Given the description of an element on the screen output the (x, y) to click on. 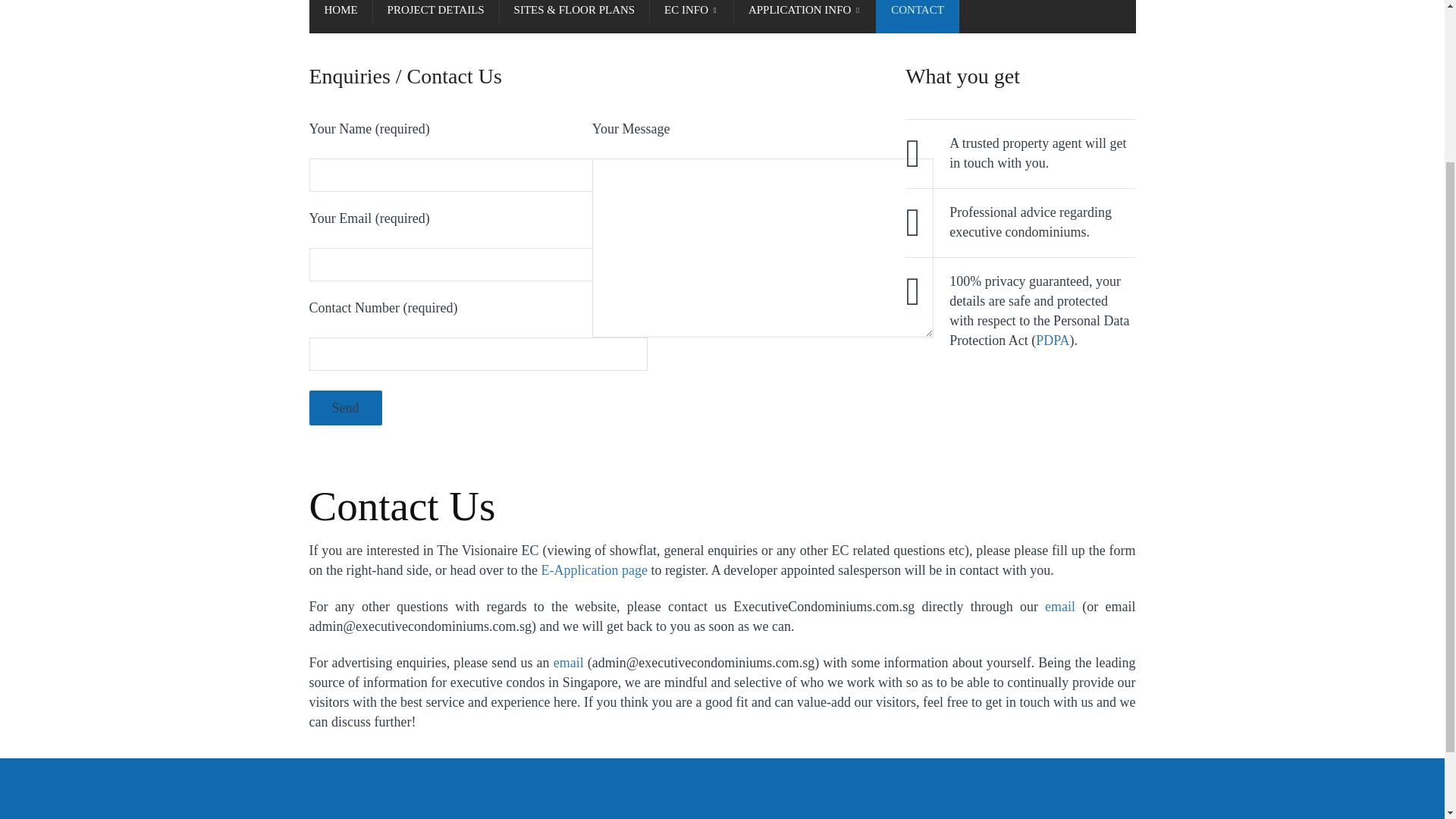
Contact Executive Condominiums Singapore (1060, 606)
PROJECT DETAILS (435, 16)
E-Application Registration (593, 570)
EC INFO (691, 16)
Contact Executive Condominiums Singapore (568, 662)
Send (344, 407)
CONTACT (917, 16)
APPLICATION INFO (804, 16)
HOME (340, 16)
